Given the description of an element on the screen output the (x, y) to click on. 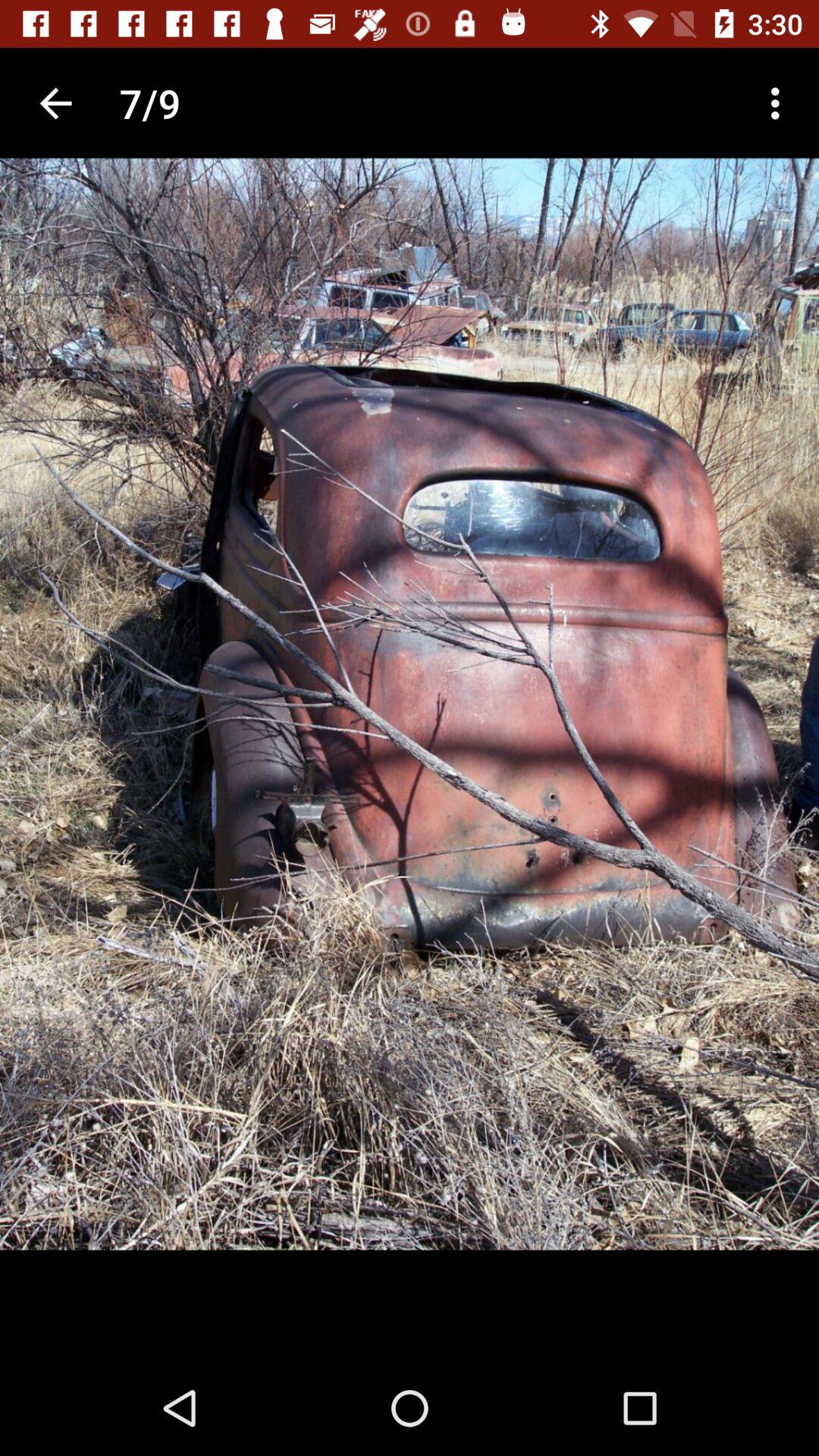
tap the icon to the right of 7/9 (779, 103)
